Given the description of an element on the screen output the (x, y) to click on. 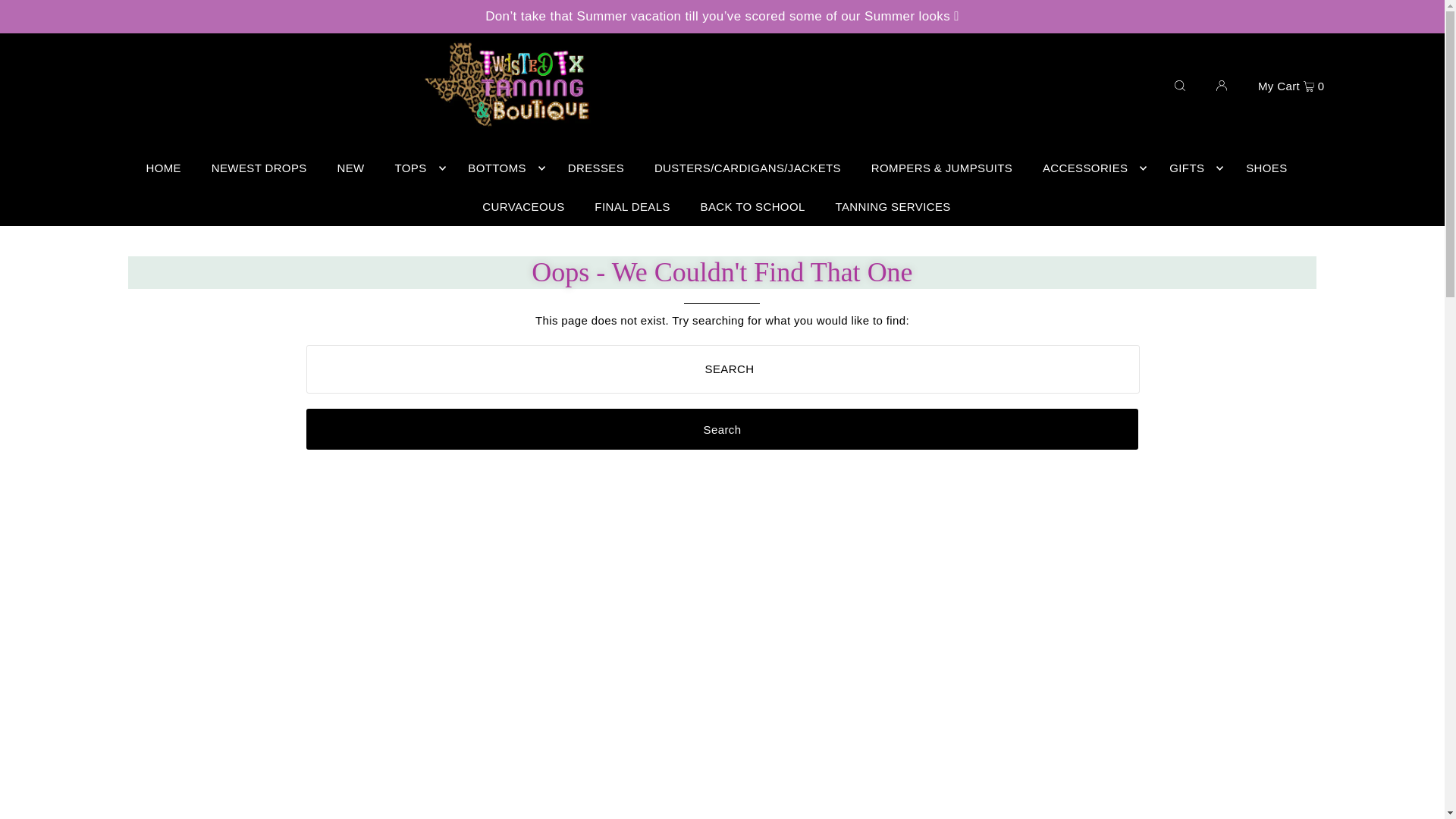
TOPS (416, 168)
HOME (163, 168)
Search (721, 428)
NEW (350, 168)
NEWEST DROPS (258, 168)
